Given the description of an element on the screen output the (x, y) to click on. 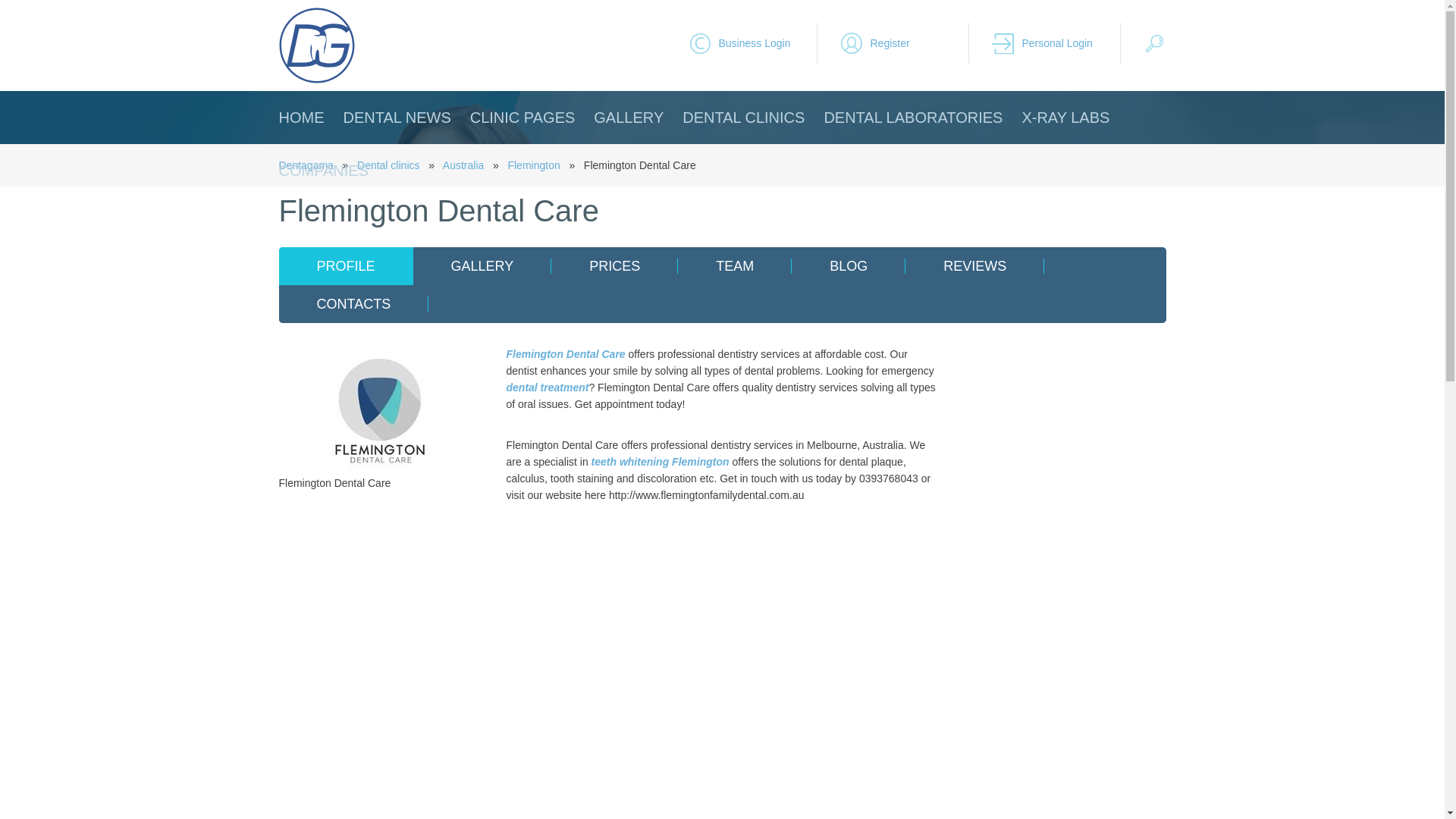
Personal Login (1056, 42)
Australia (462, 164)
Flemington Dental Care (381, 410)
CONTACTS (354, 303)
dental treatment (547, 387)
teeth whitening Flemington (660, 461)
Business Login (752, 42)
Business Login (752, 42)
Flemington (532, 164)
TEAM (735, 266)
